Given the description of an element on the screen output the (x, y) to click on. 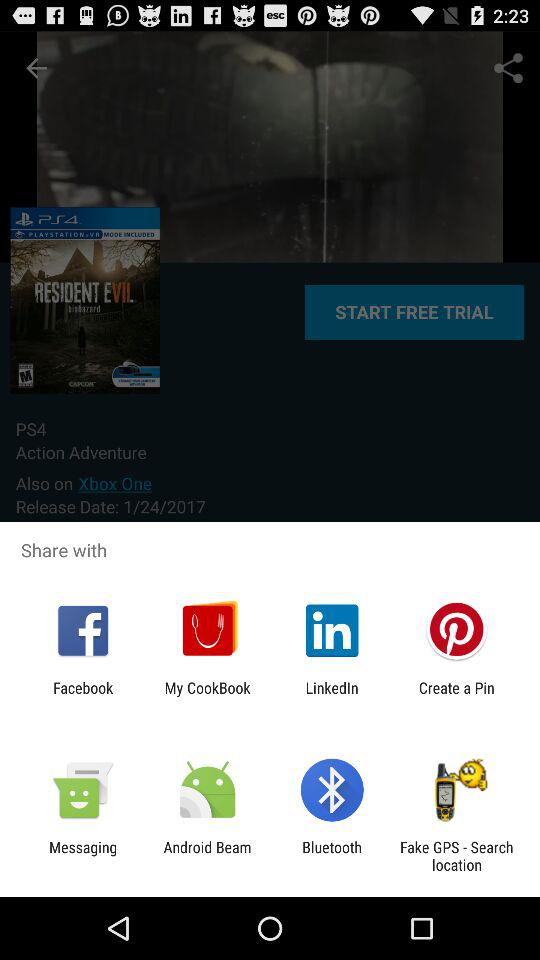
turn off the linkedin item (331, 696)
